Given the description of an element on the screen output the (x, y) to click on. 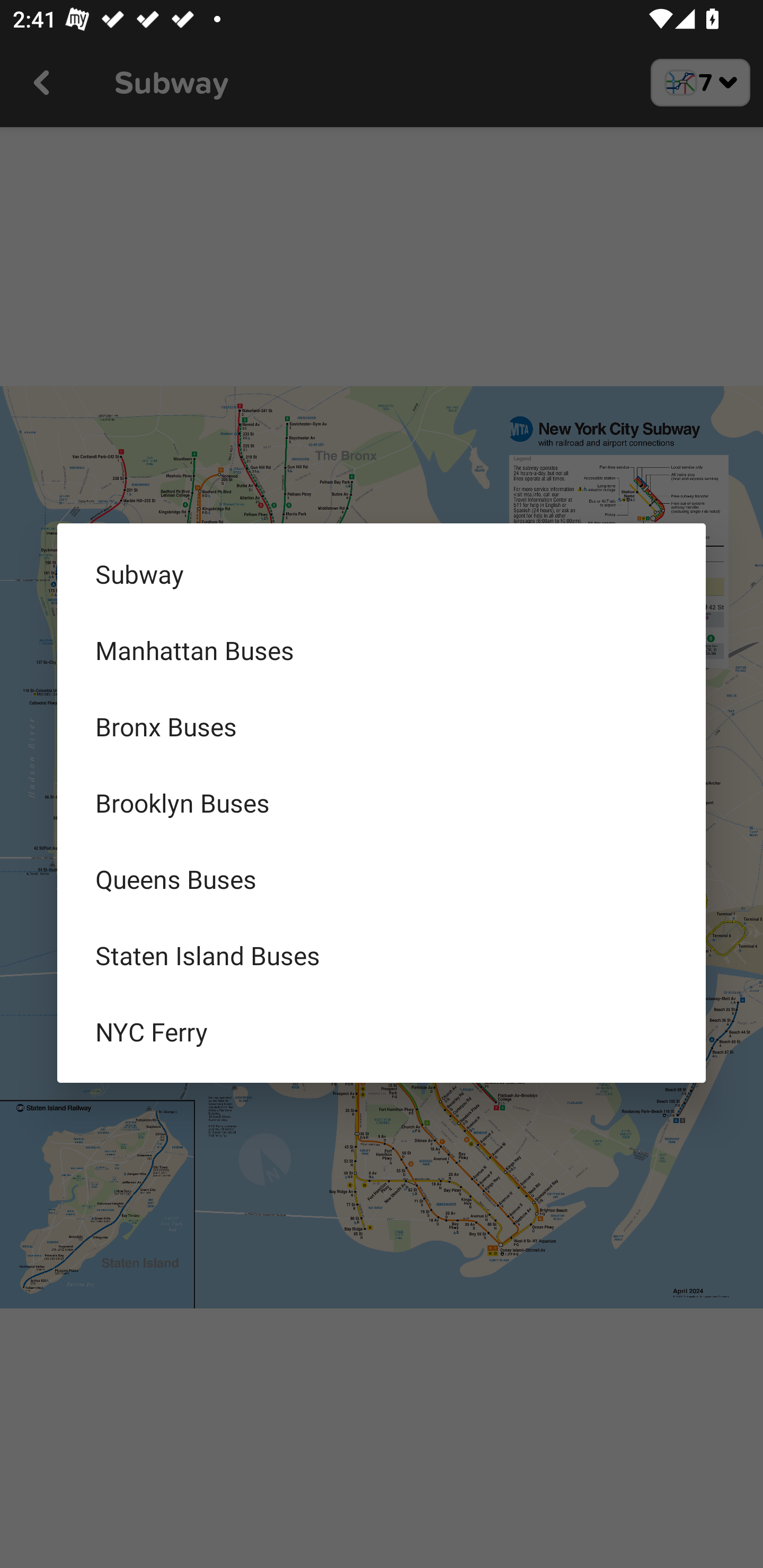
Brooklyn Buses (381, 802)
